Given the description of an element on the screen output the (x, y) to click on. 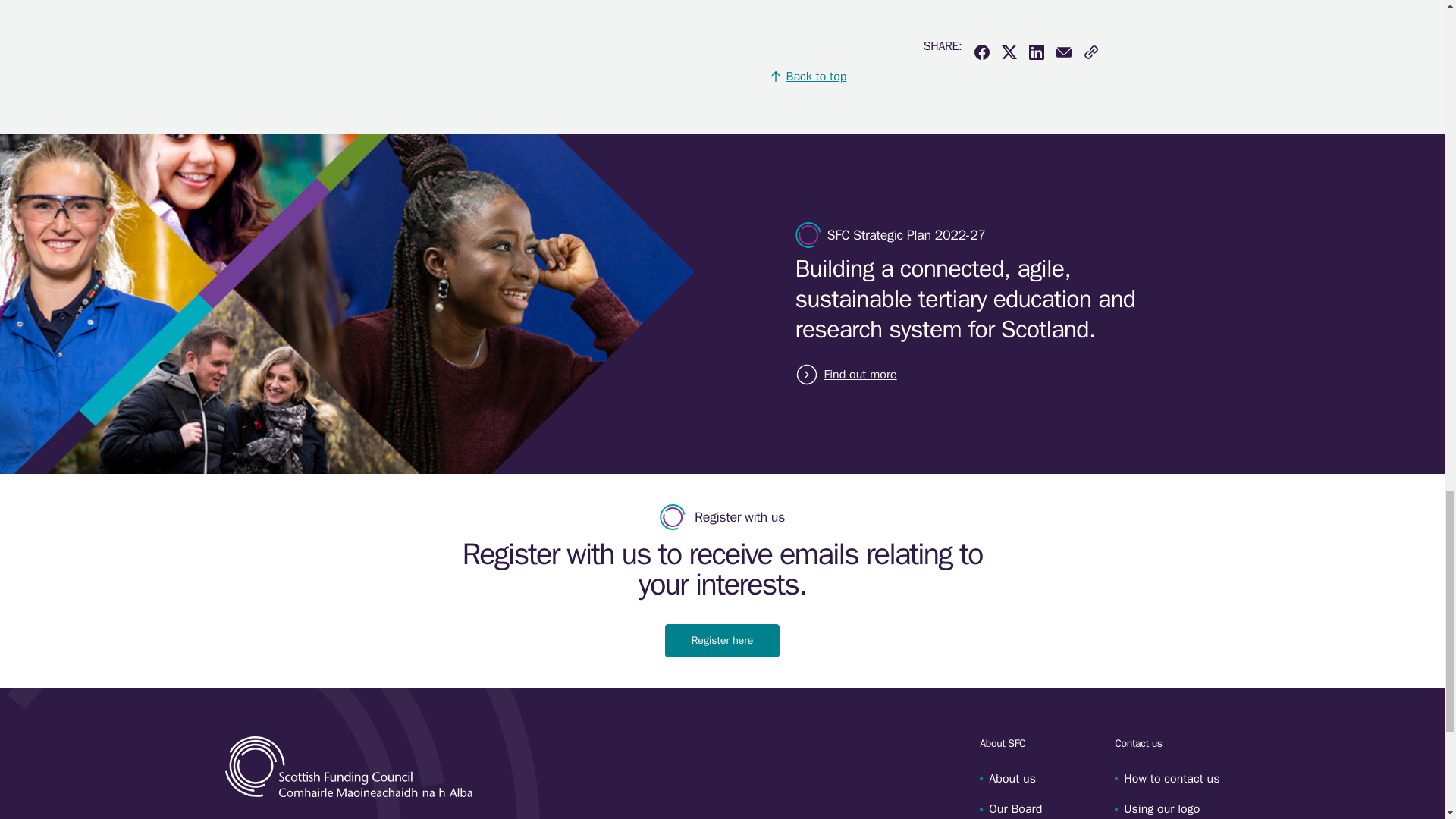
Share this article on Facebook (981, 52)
Back to top (807, 76)
Share this article on Linkedin (1035, 52)
Find out more (856, 374)
Share this article by email (1062, 52)
Share this article on Twitter (1008, 52)
